Given the description of an element on the screen output the (x, y) to click on. 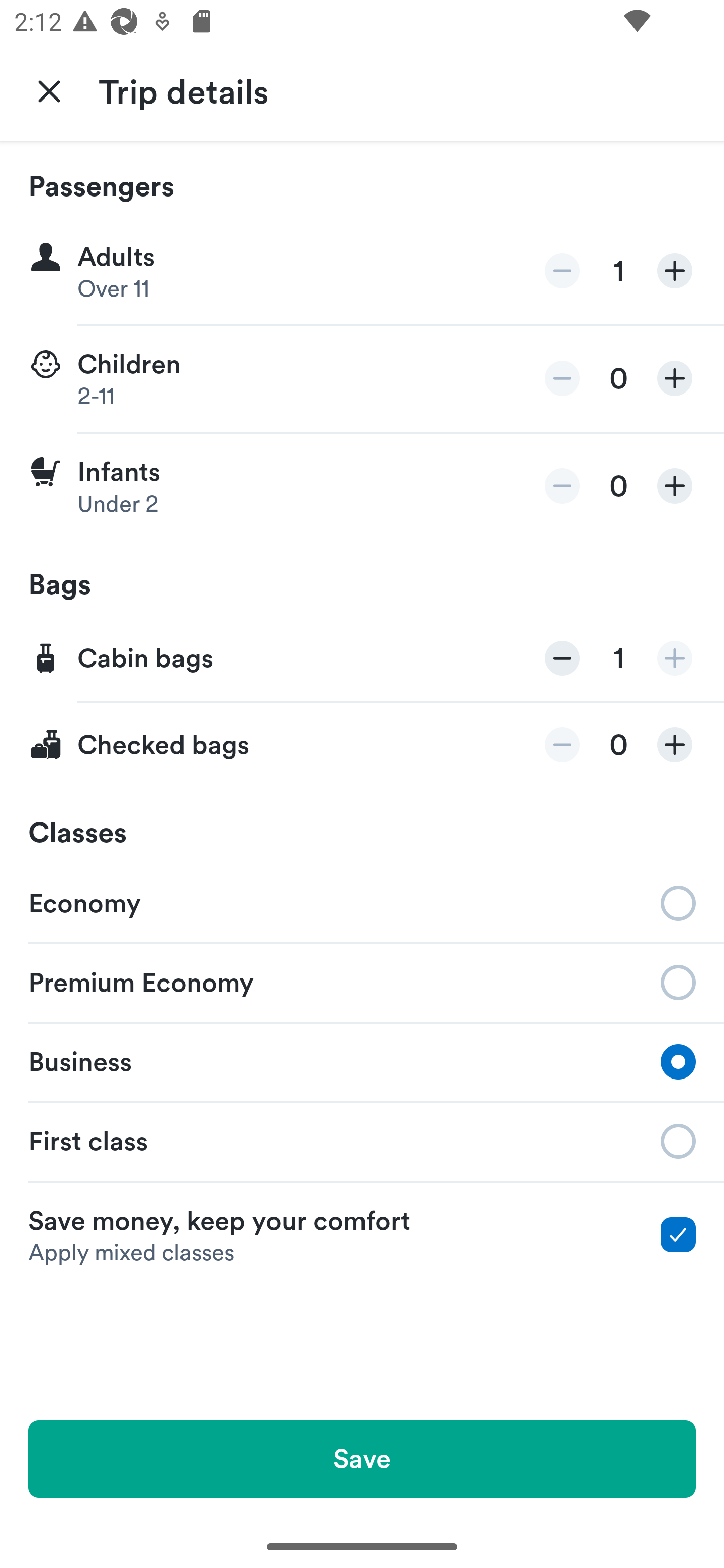
Navigate up (49, 90)
Remove 1 Add Adults Over 11 (362, 271)
Remove (561, 270)
Add (674, 270)
Remove 0 Add Children 2-11 (362, 379)
Remove (561, 377)
Add (674, 377)
Remove 0 Add Infants Under 2 (362, 485)
Remove (561, 485)
Add (674, 485)
Remove 1 Add Cabin bags (362, 659)
Remove (561, 658)
Add (674, 658)
Remove 0 Add Checked bags (362, 744)
Remove (561, 744)
Add (674, 744)
Economy (362, 901)
Premium Economy (362, 980)
First class (362, 1141)
Save (361, 1458)
